Given the description of an element on the screen output the (x, y) to click on. 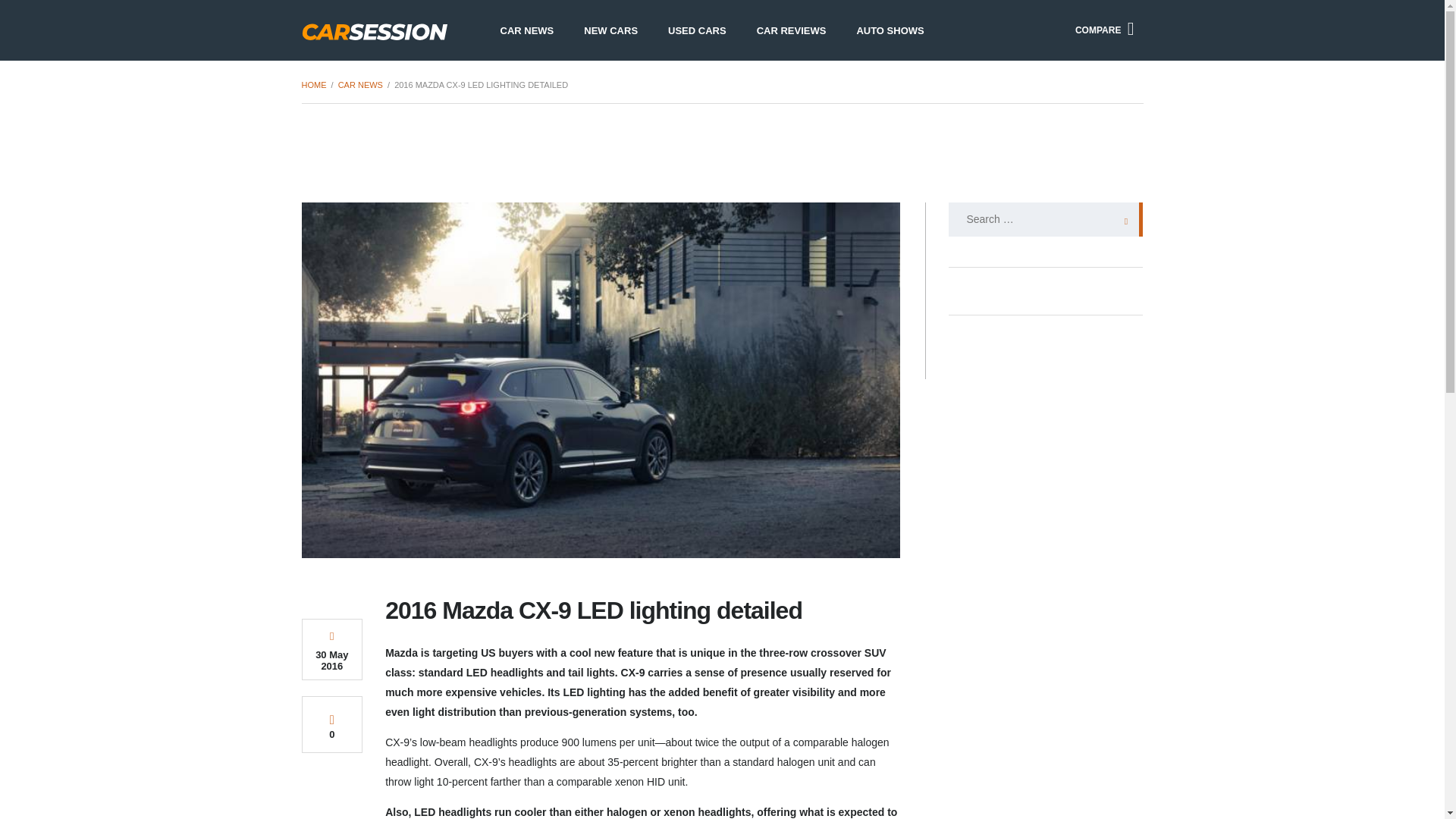
COMPARE (1104, 30)
View compared items (1104, 30)
Go to Car News (359, 84)
Home (374, 29)
CAR REVIEWS (791, 29)
USED CARS (696, 29)
NEW CARS (610, 29)
HOME (313, 84)
Home (313, 84)
CAR NEWS (359, 84)
CAR NEWS (526, 29)
AUTO SHOWS (890, 29)
Search (1121, 219)
